Given the description of an element on the screen output the (x, y) to click on. 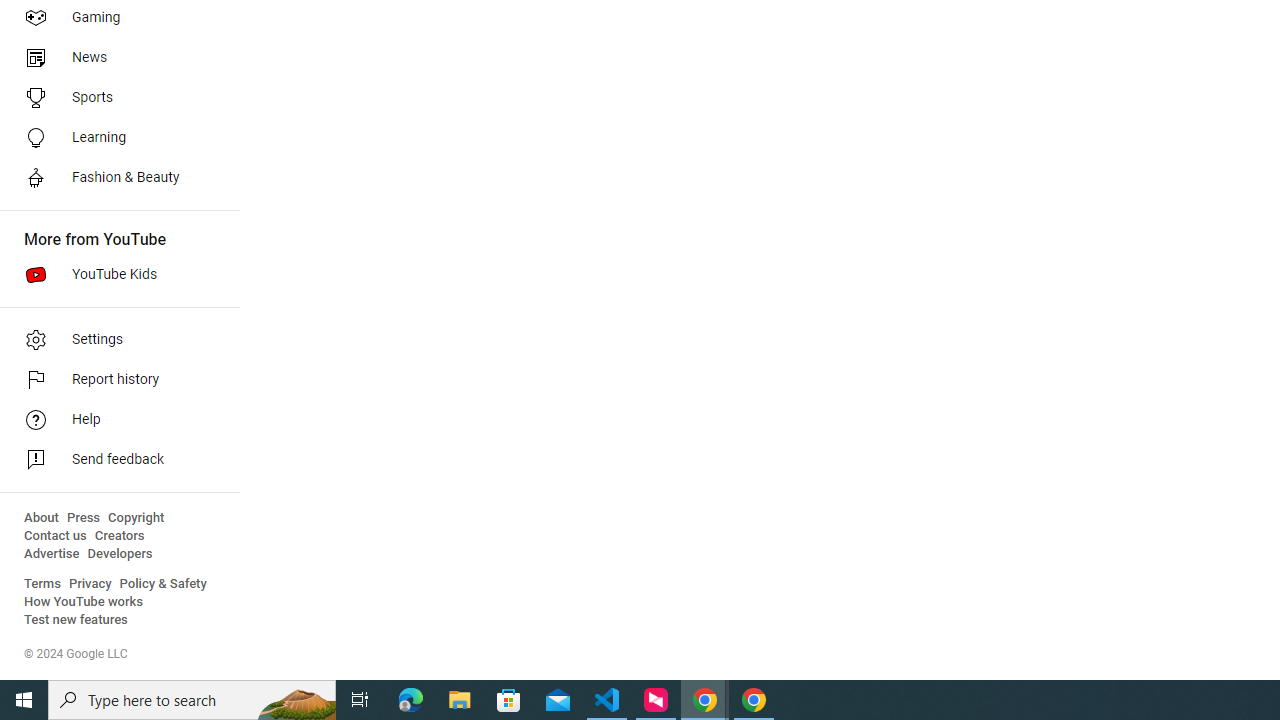
Sports (113, 97)
Advertise (51, 554)
Fashion & Beauty (113, 177)
About (41, 518)
Test new features (76, 620)
